Given the description of an element on the screen output the (x, y) to click on. 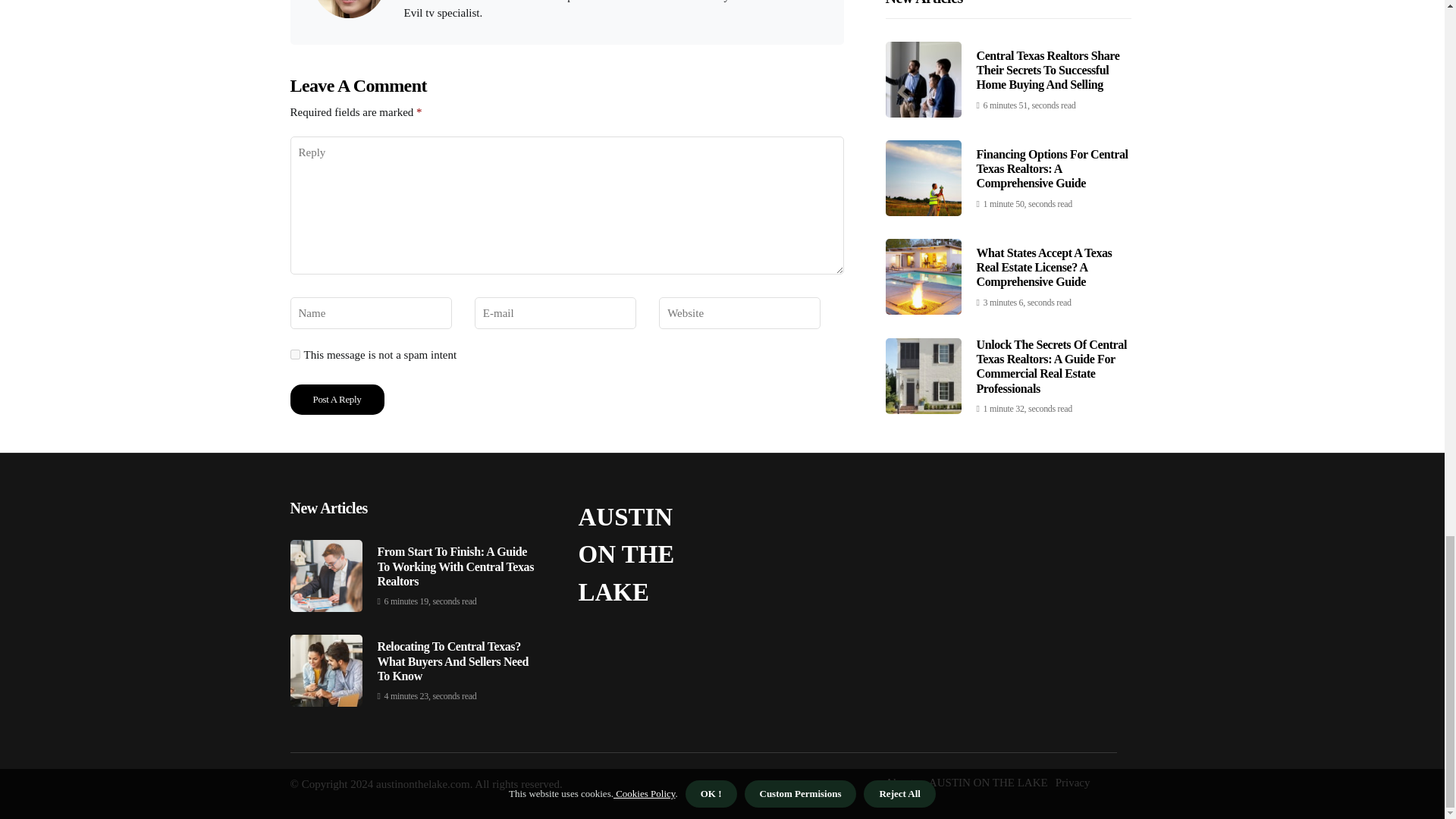
yes (294, 354)
Post a Reply (336, 399)
Post a Reply (336, 399)
